Given the description of an element on the screen output the (x, y) to click on. 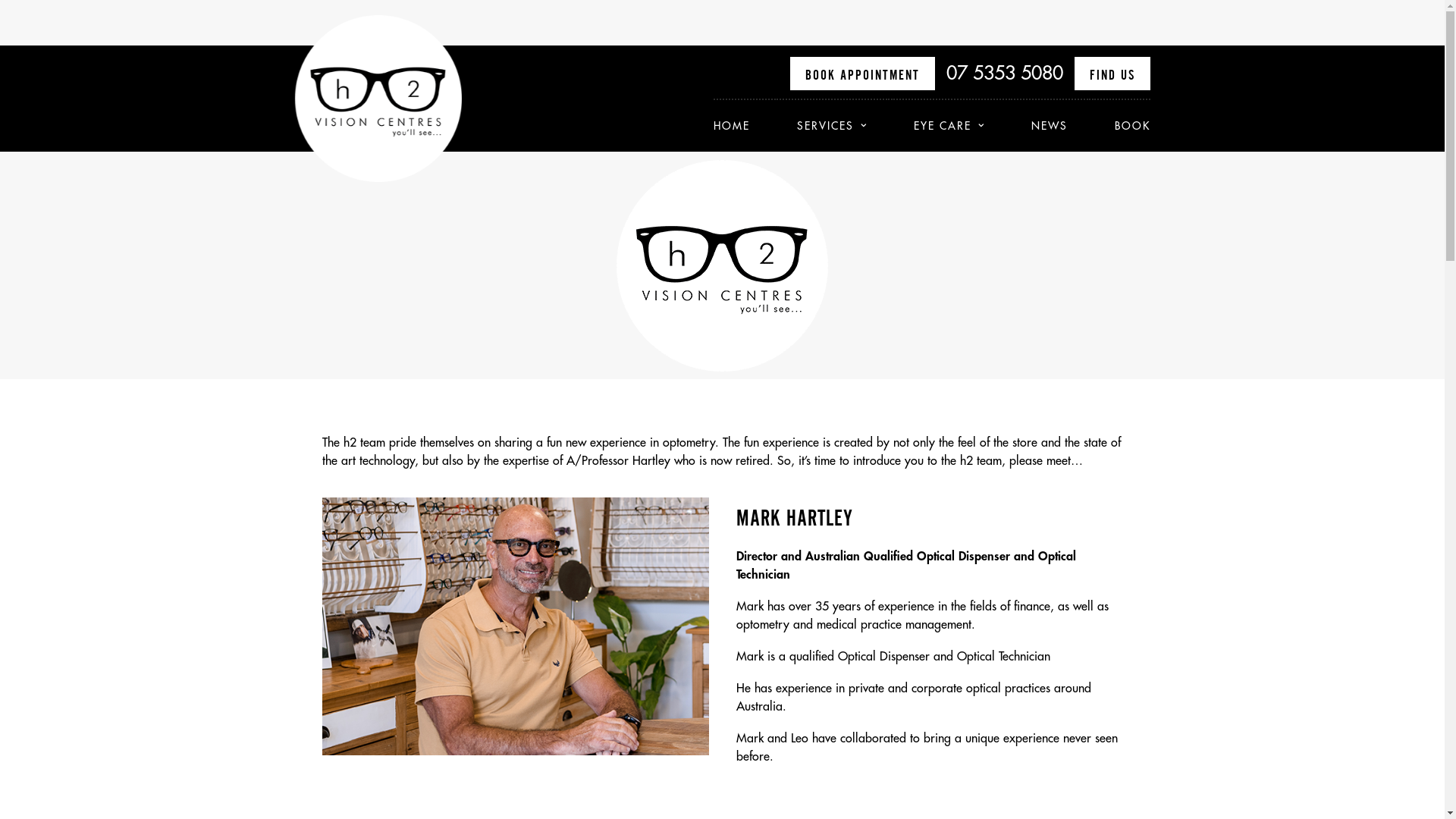
EYE CARE Element type: text (949, 125)
SERVICES Element type: text (831, 125)
BOOK Element type: text (1121, 125)
NEWS Element type: text (1049, 125)
BOOK APPOINTMENT Element type: text (862, 73)
FIND US Element type: text (1111, 73)
HOME Element type: text (742, 125)
